Given the description of an element on the screen output the (x, y) to click on. 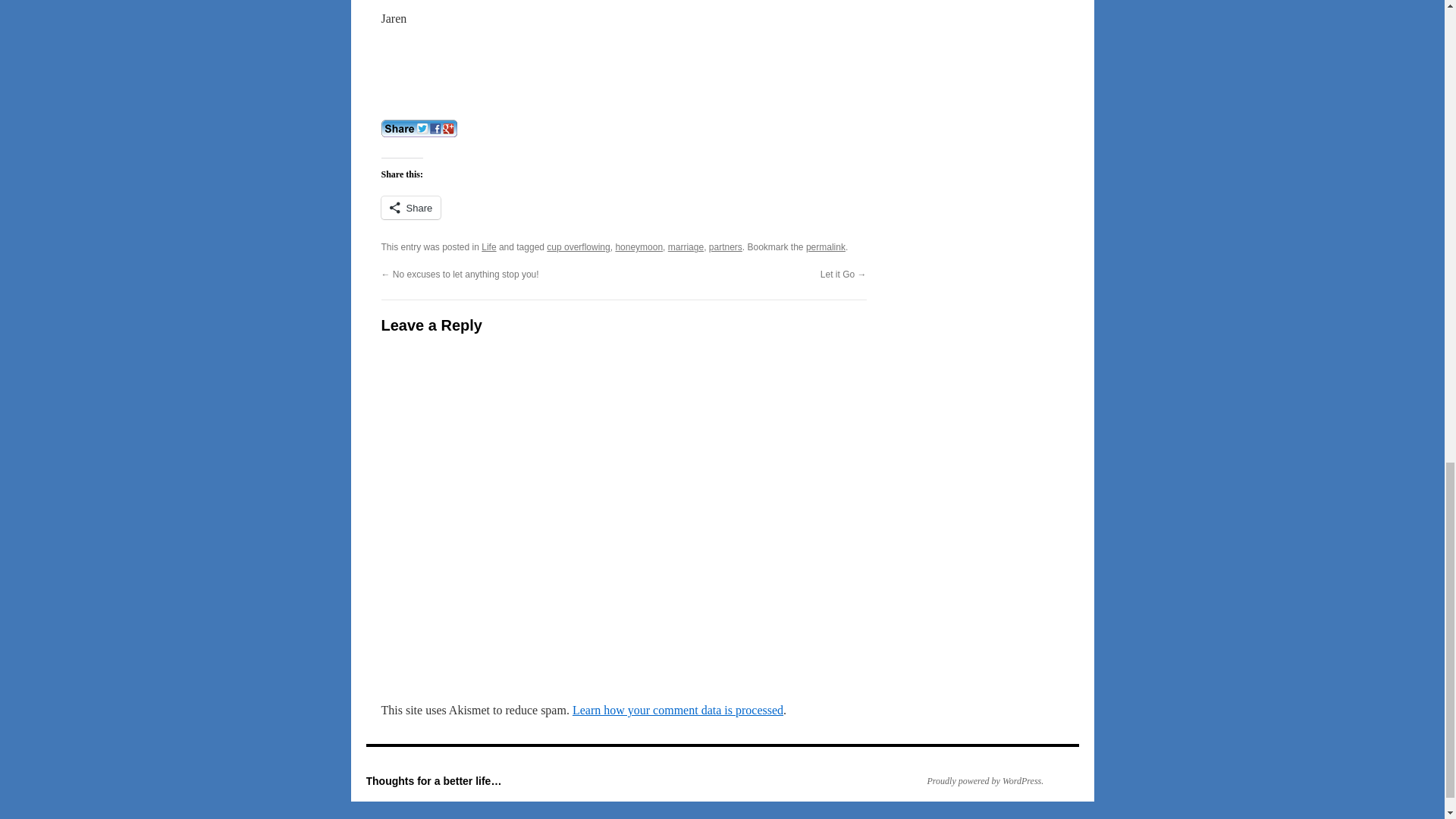
Semantic Personal Publishing Platform (977, 780)
Permalink to Do honeymoons really have to end? (825, 246)
Share (410, 207)
cup overflowing (578, 246)
Learn how your comment data is processed (677, 709)
Life (488, 246)
partners (725, 246)
marriage (685, 246)
permalink (825, 246)
honeymoon (638, 246)
